Given the description of an element on the screen output the (x, y) to click on. 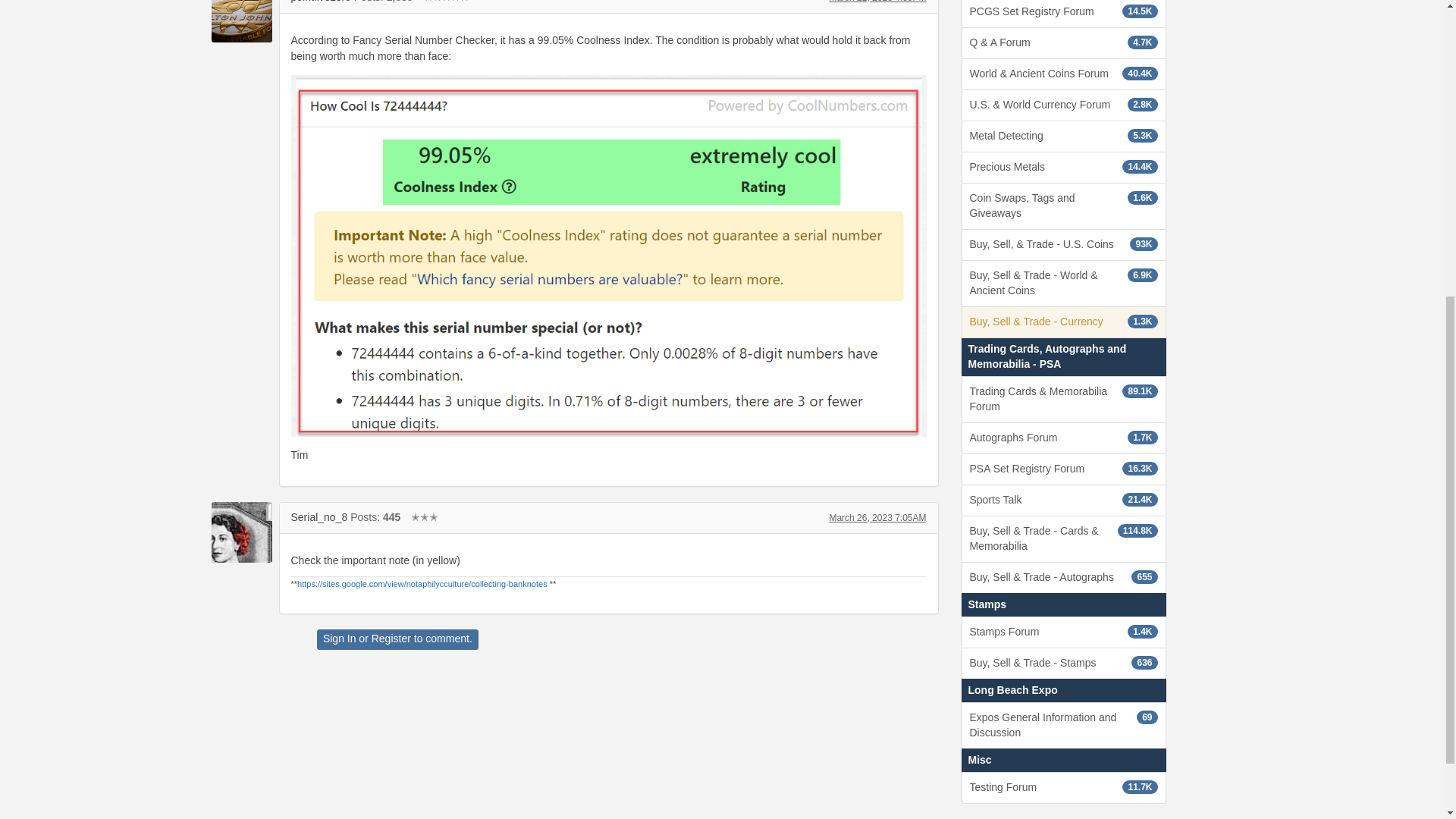
Sign In (339, 638)
March 26, 2023 7:05AM (877, 517)
pointfivezero (320, 1)
pointfivezero (240, 21)
Register (390, 638)
Master Collector (445, 1)
March 22, 2023 4:55PM (877, 1)
March 22, 2023 4:55PM (877, 1)
